Given the description of an element on the screen output the (x, y) to click on. 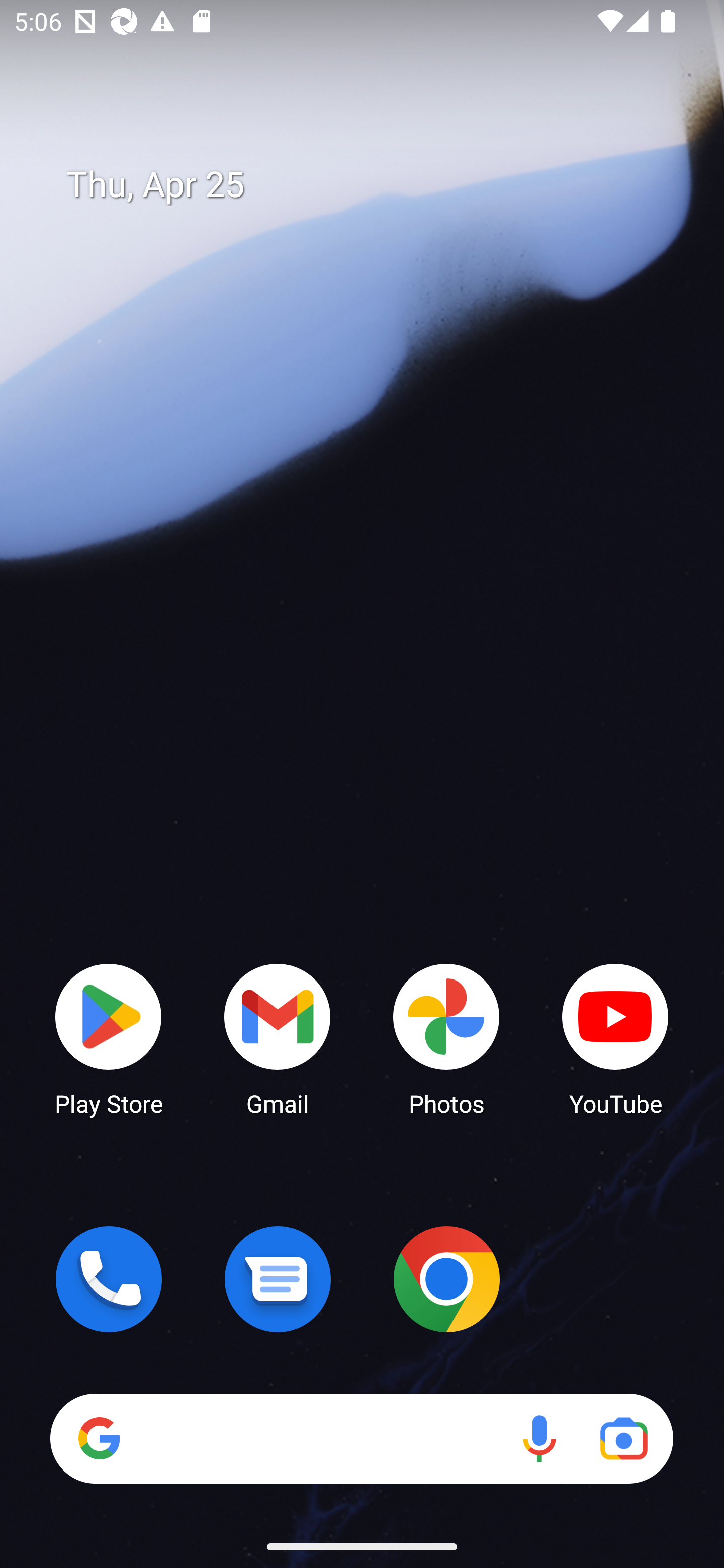
Thu, Apr 25 (375, 184)
Play Store (108, 1038)
Gmail (277, 1038)
Photos (445, 1038)
YouTube (615, 1038)
Phone (108, 1279)
Messages (277, 1279)
Chrome (446, 1279)
Search Voice search Google Lens (361, 1438)
Voice search (539, 1438)
Google Lens (623, 1438)
